Given the description of an element on the screen output the (x, y) to click on. 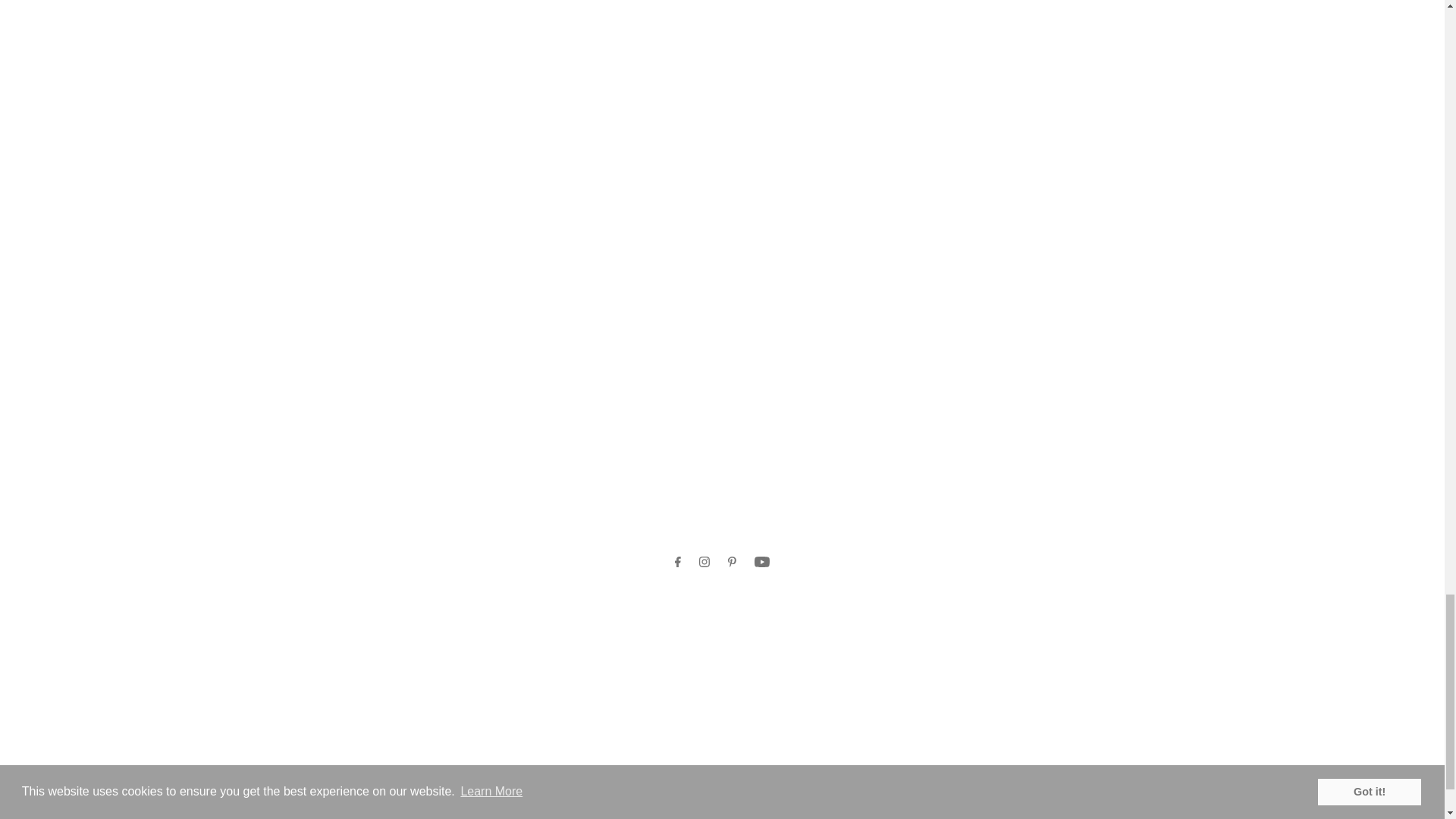
Pinterest (732, 561)
Instagram (704, 561)
Youtube (762, 561)
Facebook (678, 561)
